Given the description of an element on the screen output the (x, y) to click on. 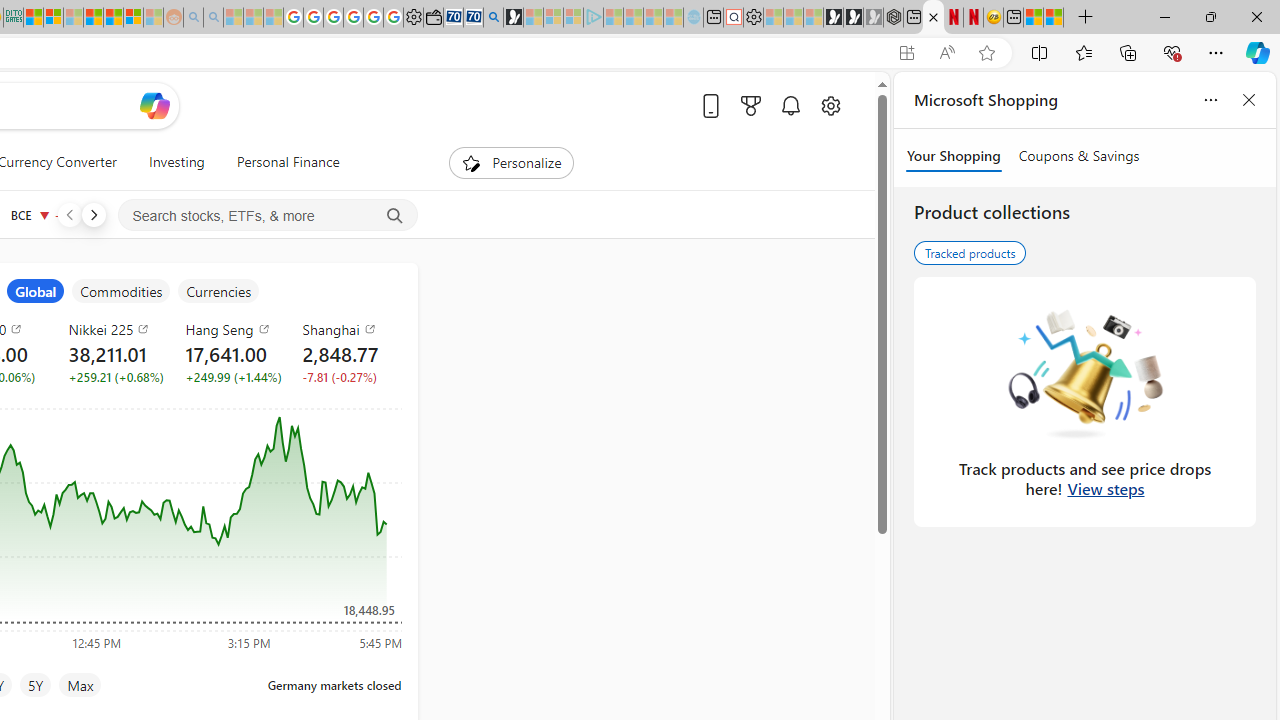
Microsoft Start - Sleeping (653, 17)
Microsoft account | Privacy - Sleeping (573, 17)
Hang Seng (232, 328)
Utah sues federal government - Search - Sleeping (212, 17)
Nikkei 225 (114, 328)
Nordace - Nordace Siena Is Not An Ordinary Backpack (893, 17)
